Given the description of an element on the screen output the (x, y) to click on. 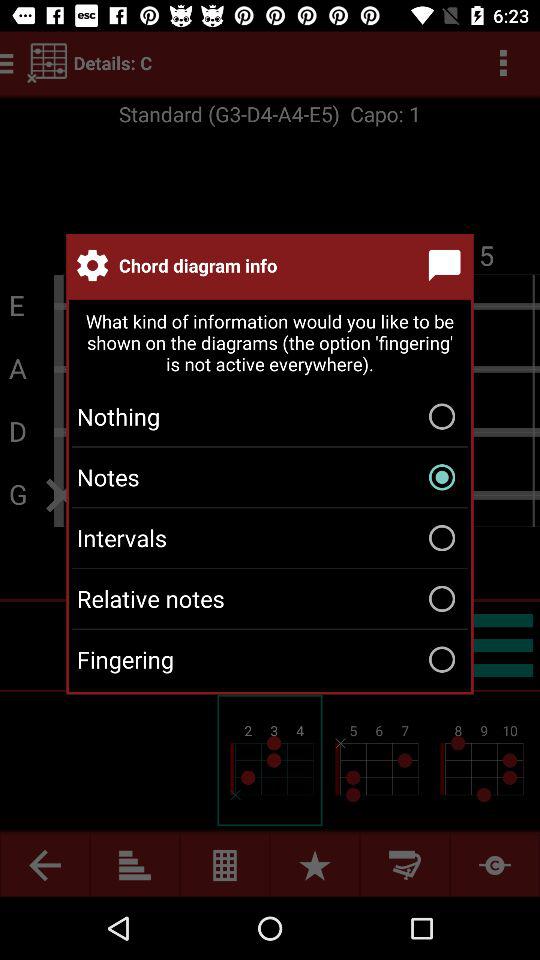
choose item below the notes icon (269, 537)
